Given the description of an element on the screen output the (x, y) to click on. 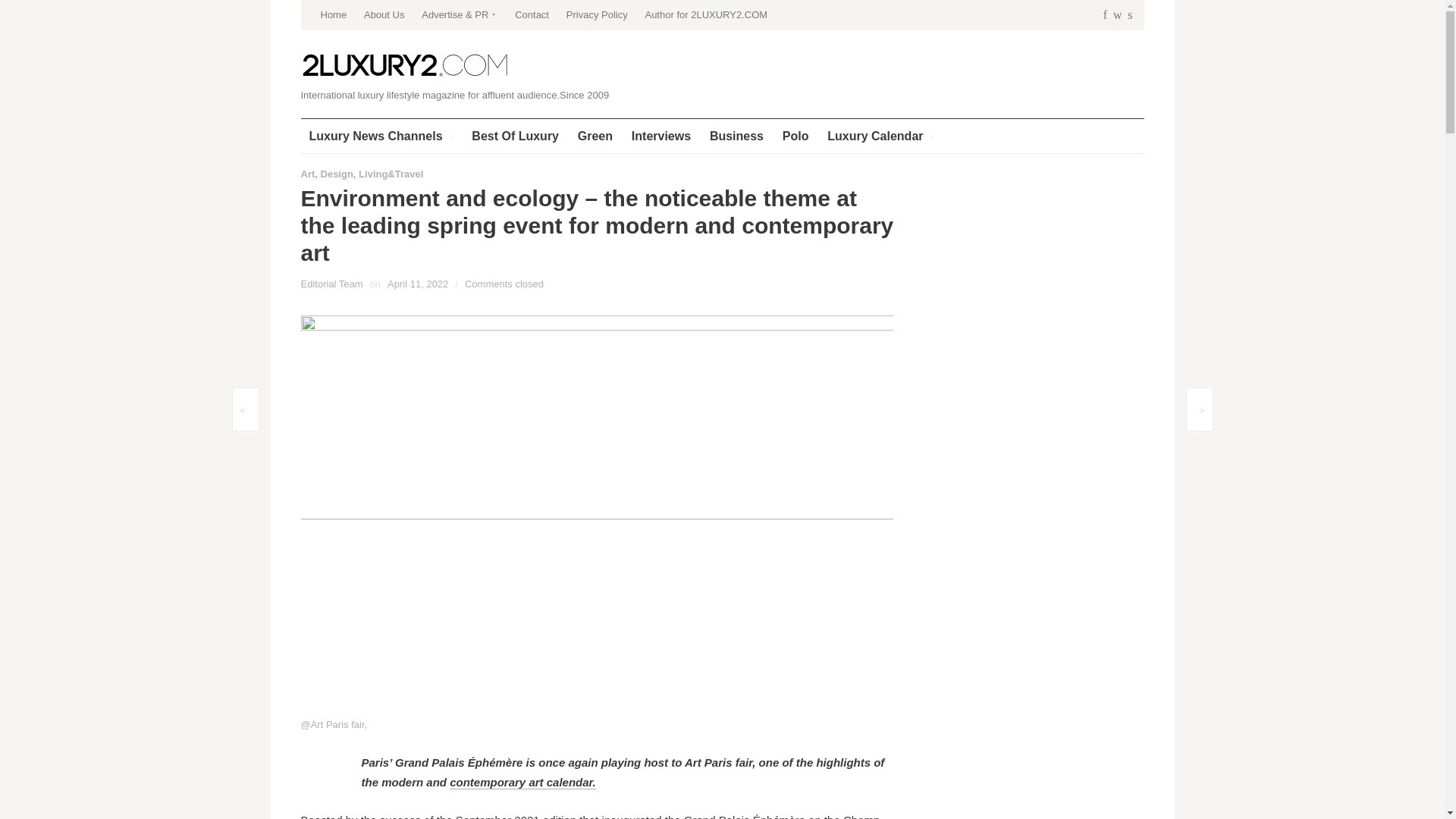
Author for 2LUXURY2.COM (706, 15)
Green (595, 135)
Polo (795, 135)
Luxury News Channels (380, 135)
About Us (384, 15)
Green luxury (595, 135)
Best of luxury (515, 135)
luxury news (380, 135)
Contact (531, 15)
Best Of Luxury (515, 135)
